Given the description of an element on the screen output the (x, y) to click on. 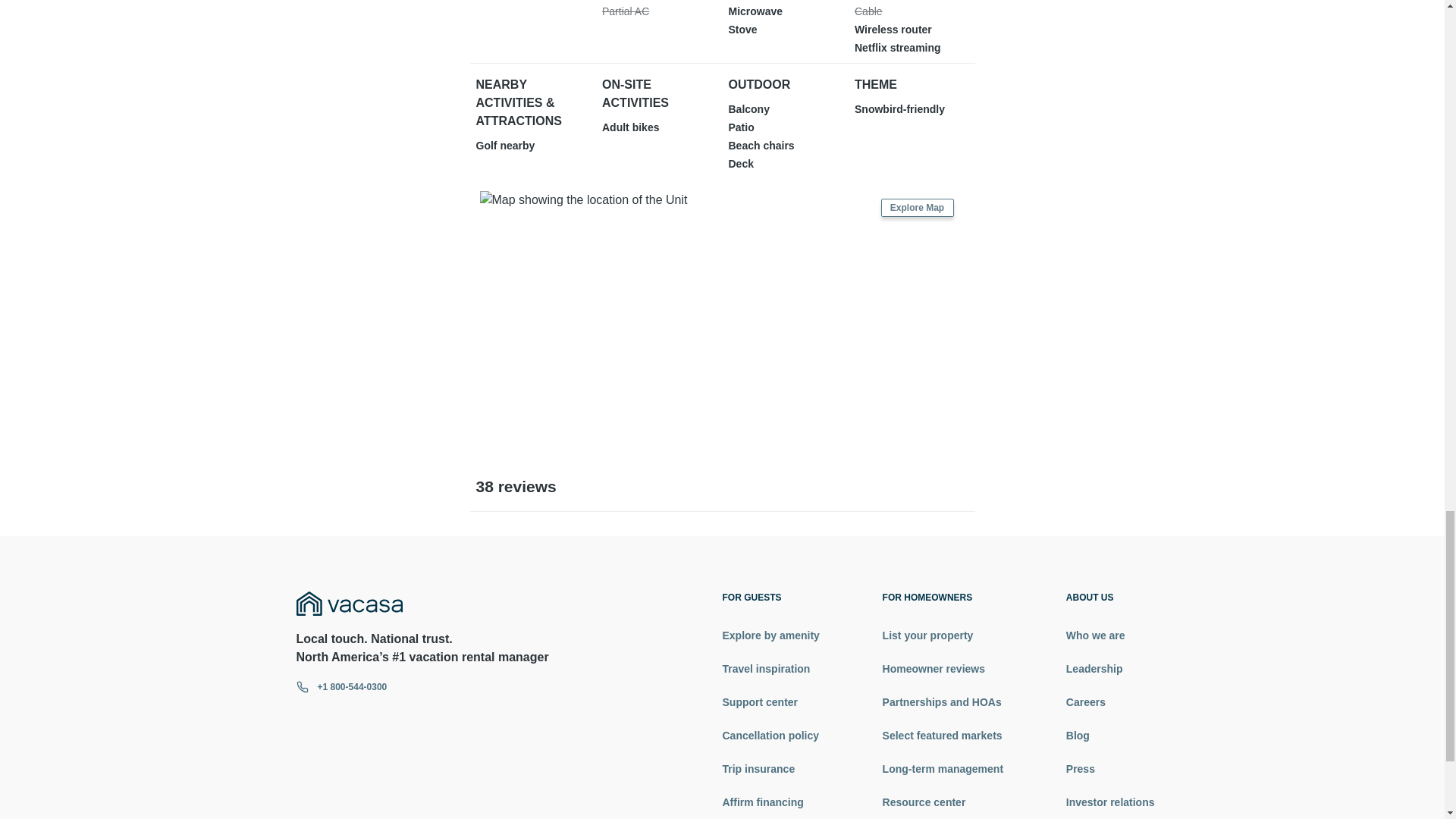
List your property (942, 635)
Affirm financing (770, 801)
Explore Map (916, 208)
Homeowner reviews (942, 668)
Trip insurance (770, 768)
Explore by amenity (770, 635)
Cancellation policy (770, 735)
Select featured markets (942, 735)
Support center (770, 702)
Partnerships and HOAs (942, 702)
Travel inspiration (770, 668)
